Given the description of an element on the screen output the (x, y) to click on. 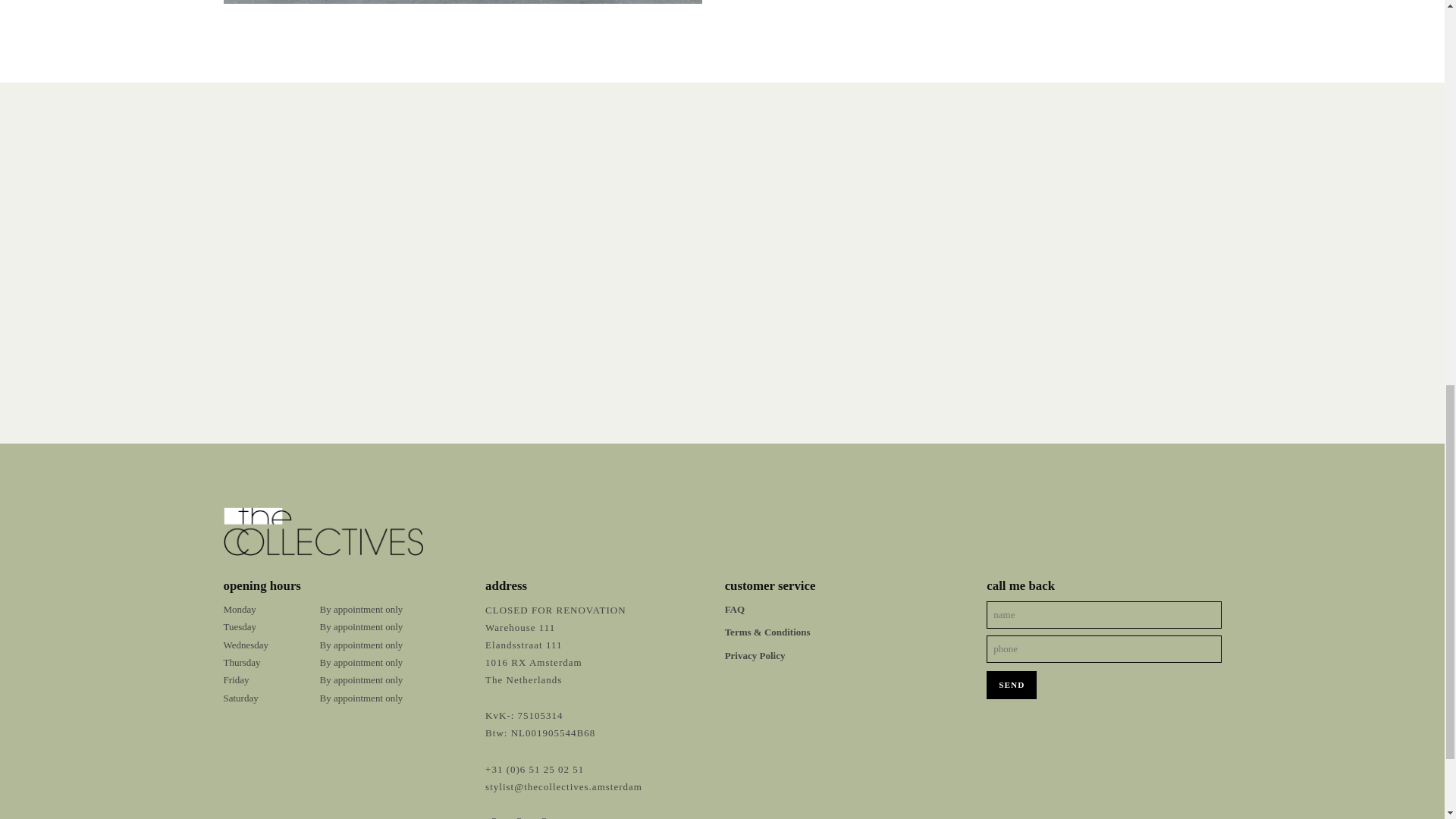
SEND (1011, 684)
